Given the description of an element on the screen output the (x, y) to click on. 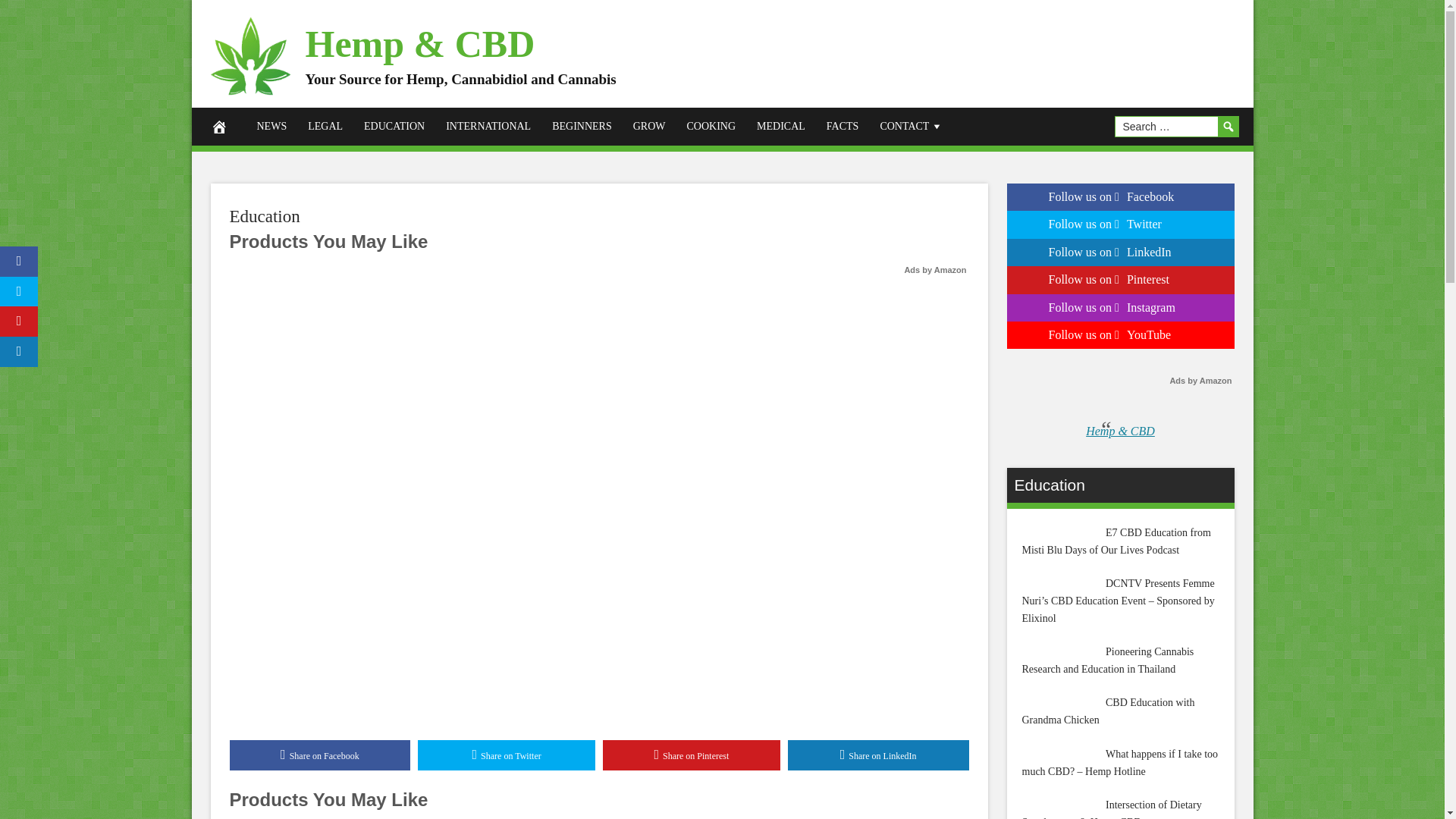
INTERNATIONAL (488, 126)
MEDICAL (780, 126)
GROW (650, 126)
CONTACT (911, 126)
LEGAL (325, 126)
FACTS (842, 126)
BEGINNERS (582, 126)
NEWS (271, 126)
EDUCATION (394, 126)
COOKING (711, 126)
